Given the description of an element on the screen output the (x, y) to click on. 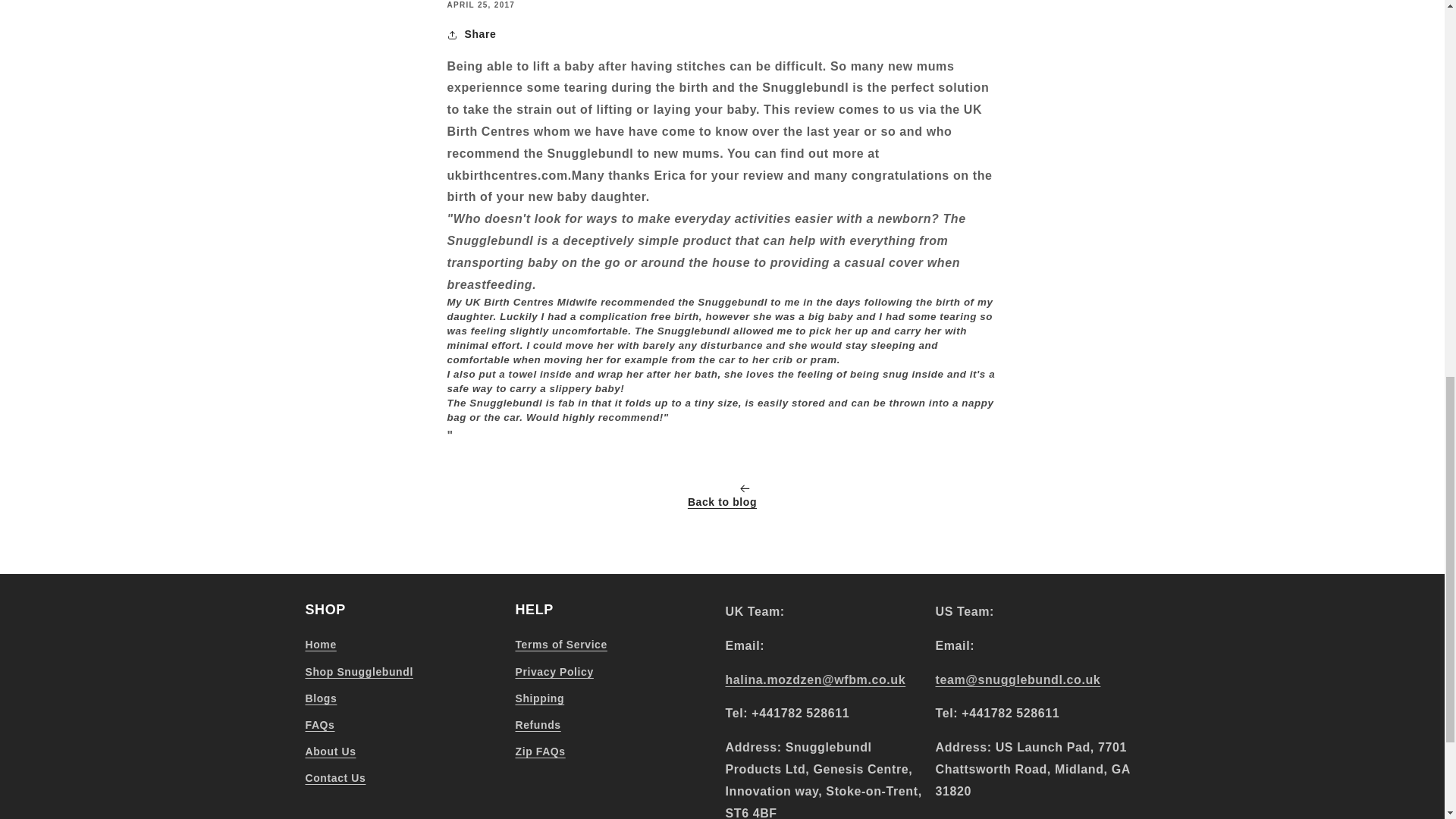
Back to blog (722, 497)
Shop Snugglebundl (358, 672)
Contact Us (334, 777)
About Us (329, 751)
Shipping (539, 698)
Refunds (537, 724)
Privacy Policy (554, 672)
Terms of Service (561, 646)
Home (320, 646)
Zip FAQs (540, 751)
Blogs (320, 698)
FAQs (319, 724)
